Given the description of an element on the screen output the (x, y) to click on. 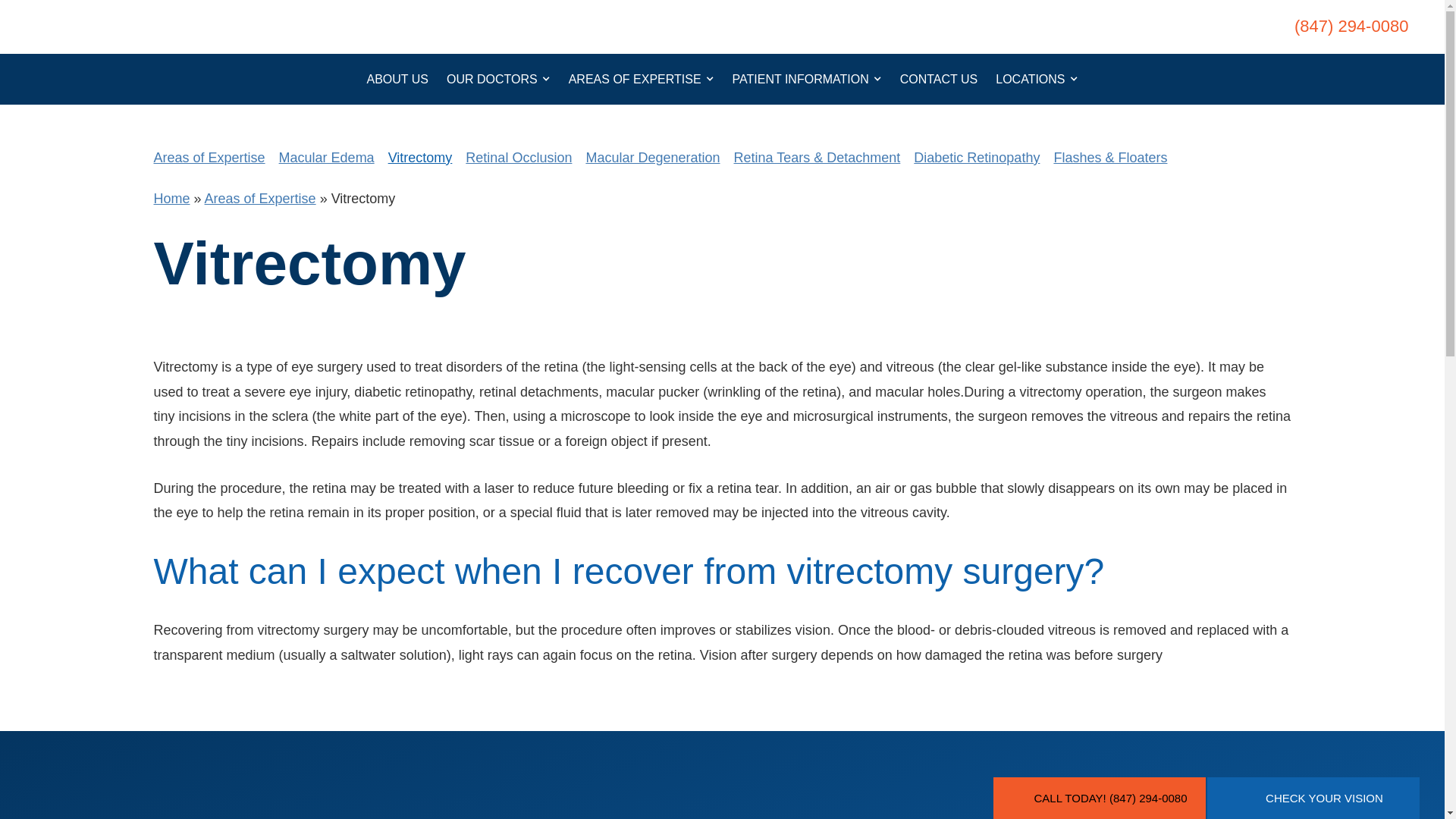
Areas of Expertise (208, 157)
Macular Degeneration (652, 157)
Home (170, 198)
Retinal Occlusion (518, 157)
PATIENT INFORMATION (807, 79)
Go to homepage (162, 26)
AREAS OF EXPERTISE (641, 79)
Retinal Occlusion (518, 157)
ABOUT US (397, 79)
CONTACT US (939, 79)
Diabetic Retinopathy (976, 157)
Vitrectomy (420, 157)
Diabetic Retinopathy (976, 157)
Macular Degeneration (652, 157)
Macular Edema (326, 157)
